Given the description of an element on the screen output the (x, y) to click on. 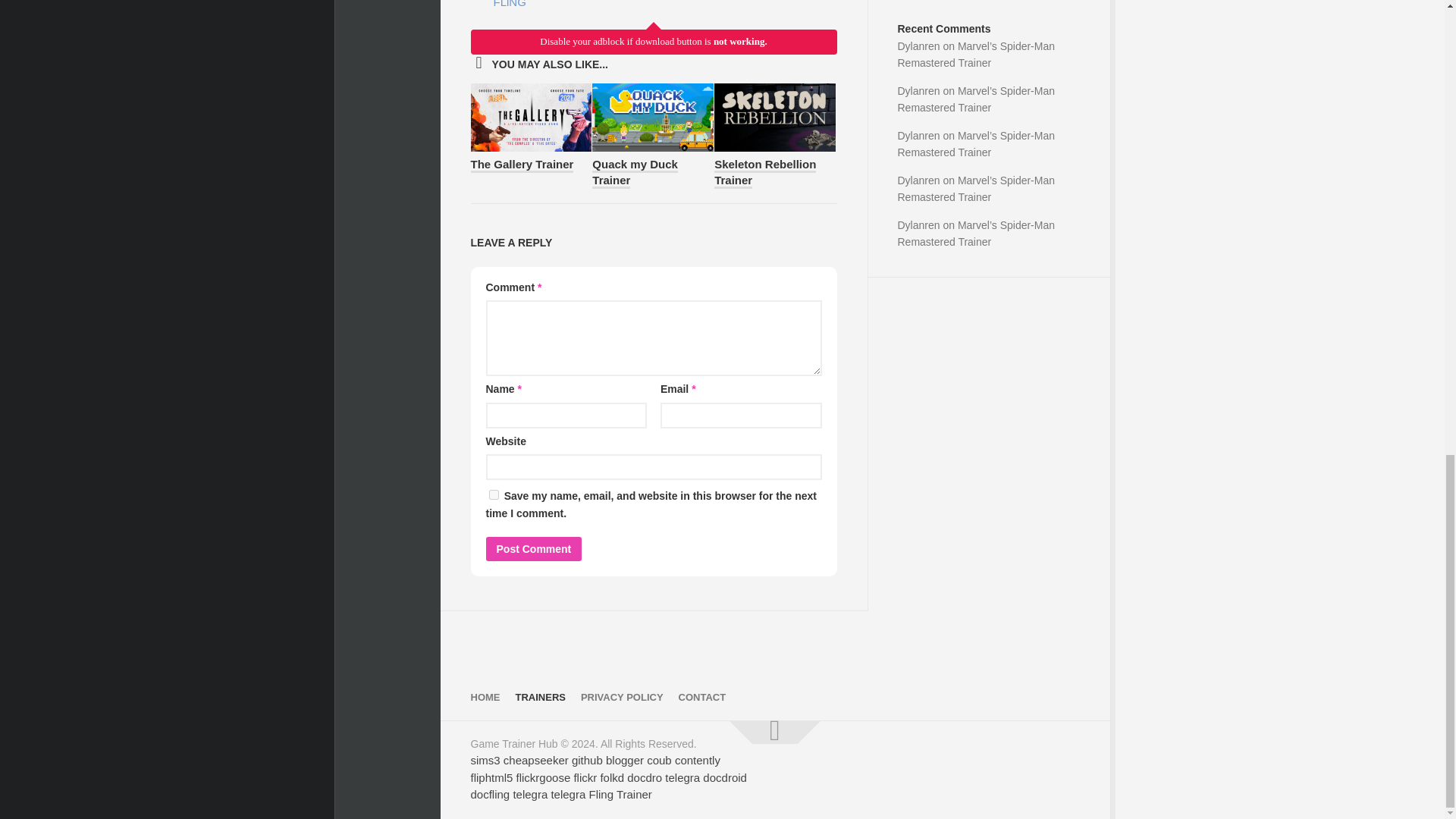
Skeleton Rebellion Trainer (764, 173)
Quack my Duck Trainer (635, 173)
The Gallery Trainer (521, 165)
Post Comment (532, 549)
Insider Threat Trainer.LatestVersion.Plus.Trainer-FLiNG (575, 5)
Post Comment (532, 549)
Insider Threat Trainer.Full.Access.Plus.12.Trainer-FLiNG (575, 5)
yes (492, 494)
